Given the description of an element on the screen output the (x, y) to click on. 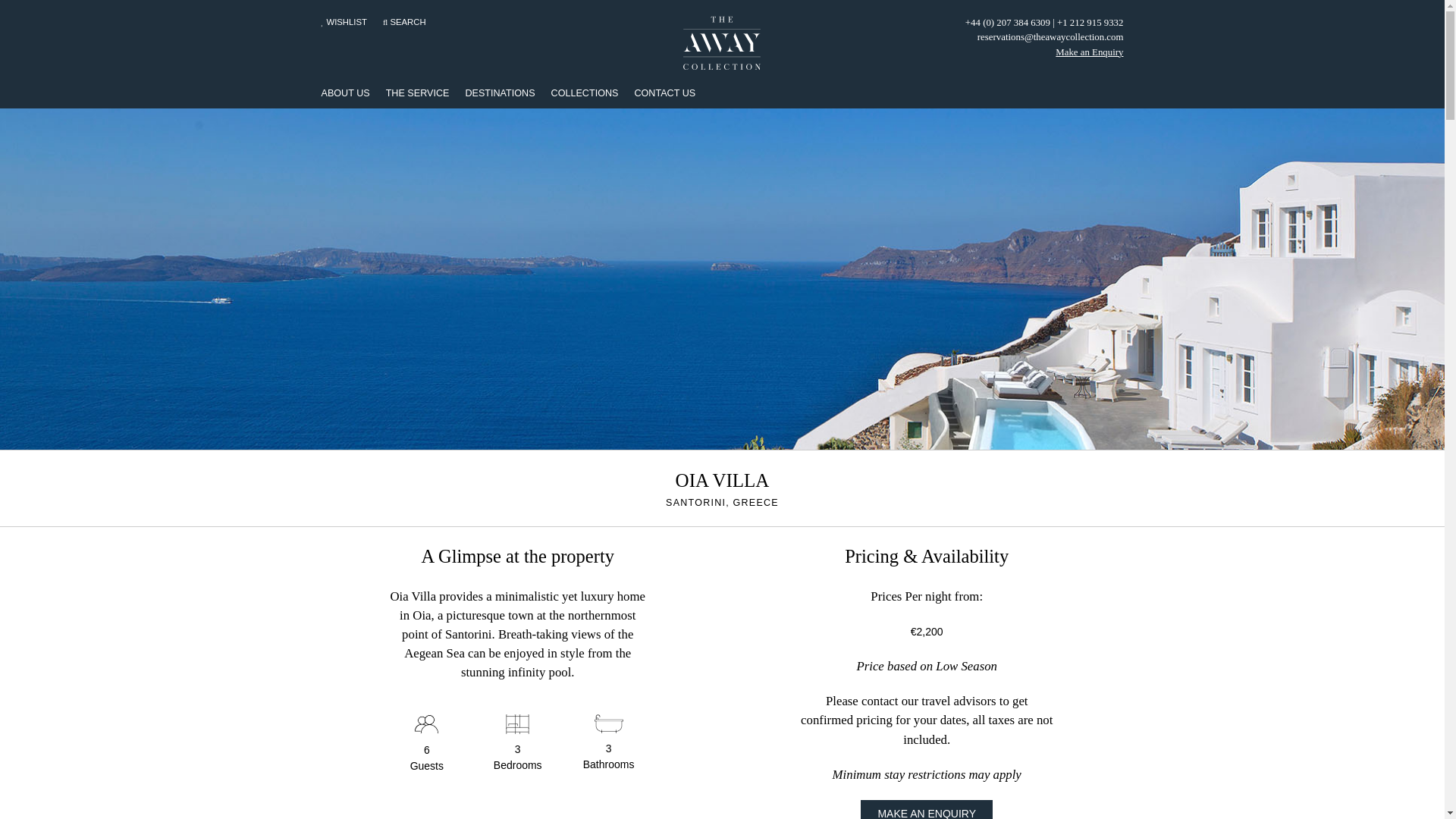
CONTACT US (664, 92)
COLLECTIONS (584, 92)
ABOUT US (345, 92)
WISHLIST (346, 21)
Make an Enquiry (1088, 51)
DESTINATIONS (499, 92)
SEARCH (407, 21)
THE SERVICE (417, 92)
